Given the description of an element on the screen output the (x, y) to click on. 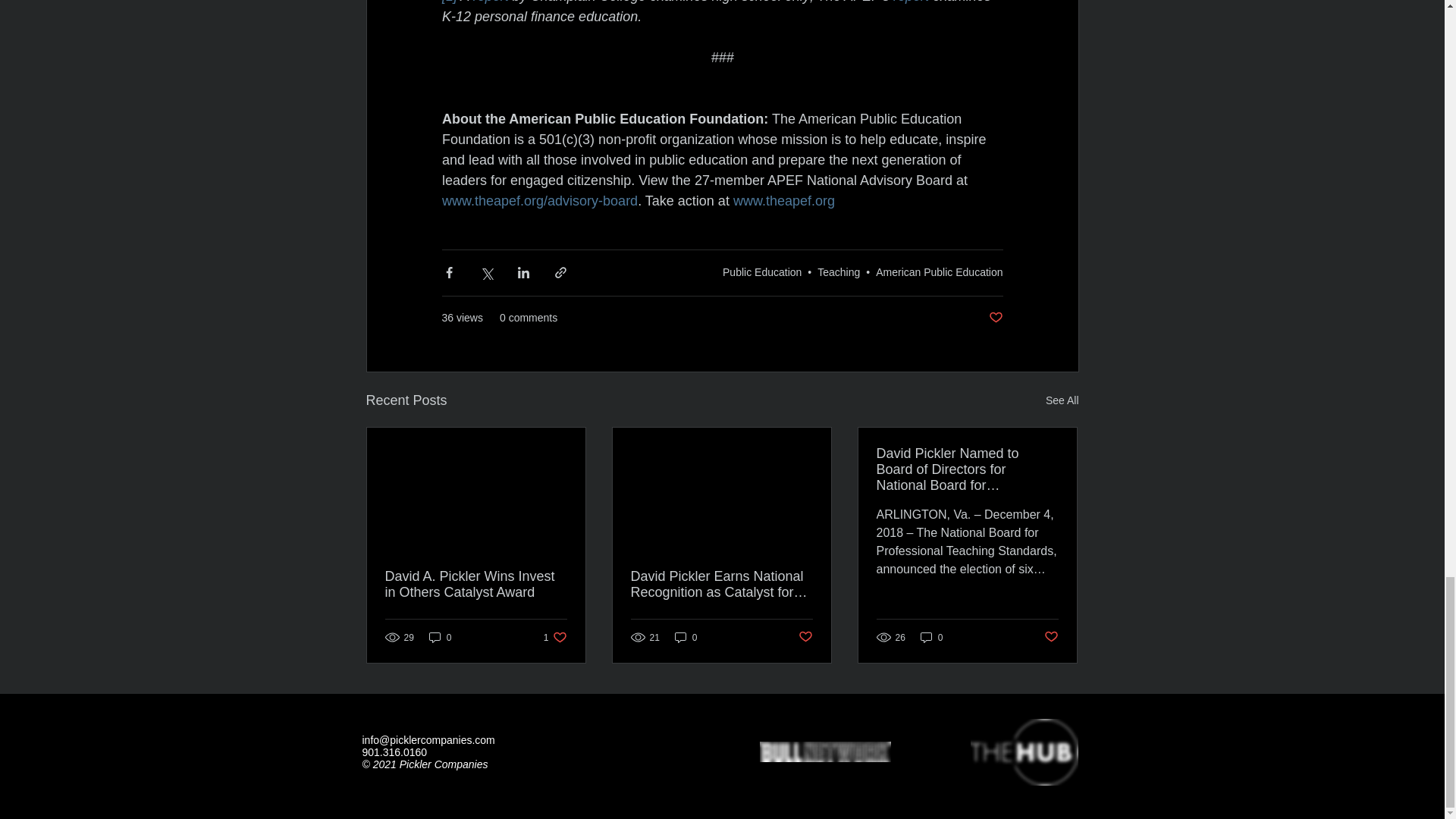
The Bull Network (825, 752)
